Given the description of an element on the screen output the (x, y) to click on. 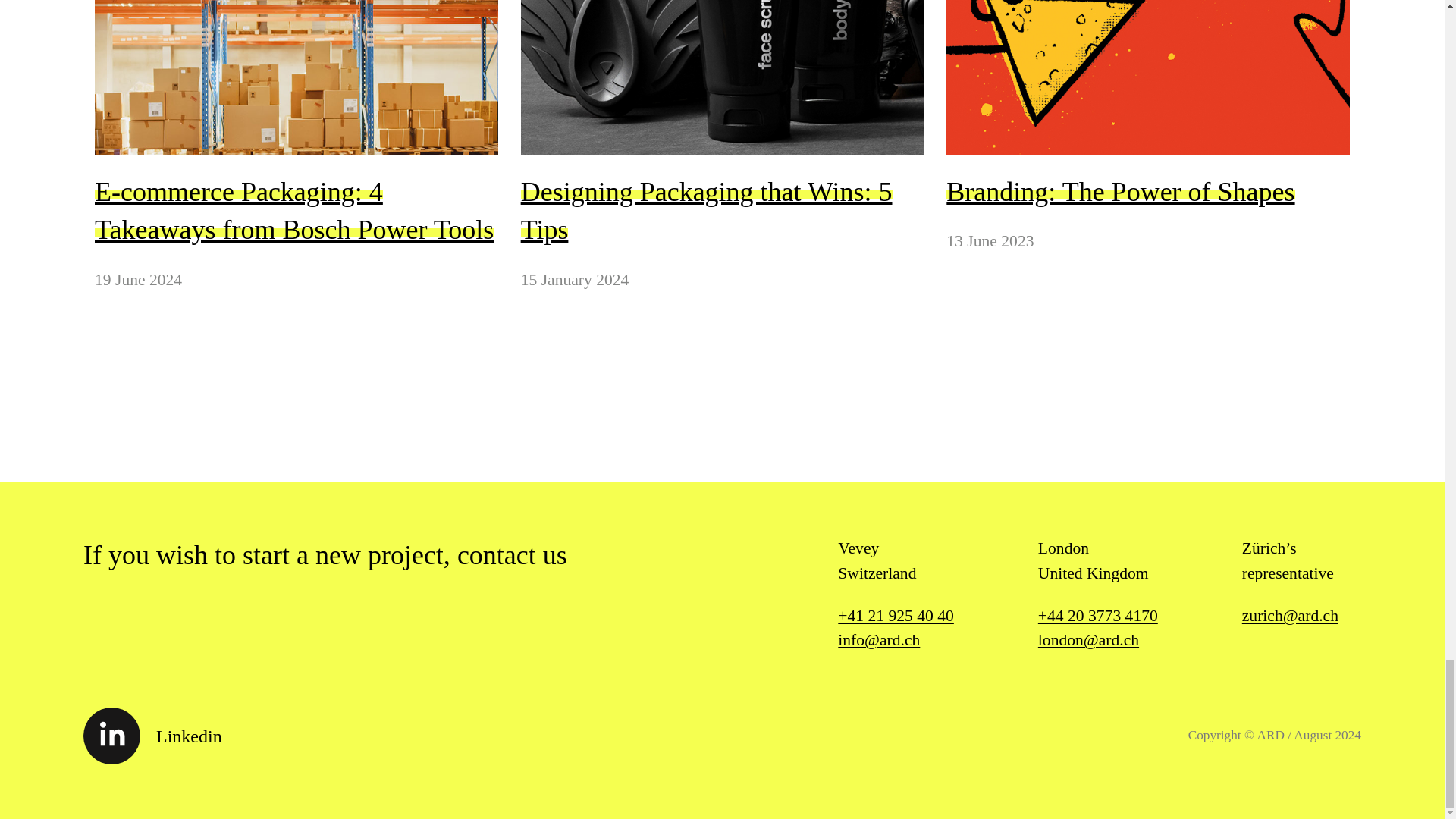
Linkedin (152, 733)
contact us (518, 554)
E-commerce Packaging: 4 Takeaways from Bosch Power Tools (293, 210)
If you wish to start a new project, (269, 554)
Branding: The Power of Shapes (1120, 191)
Designing Packaging that Wins: 5 Tips (706, 210)
